Given the description of an element on the screen output the (x, y) to click on. 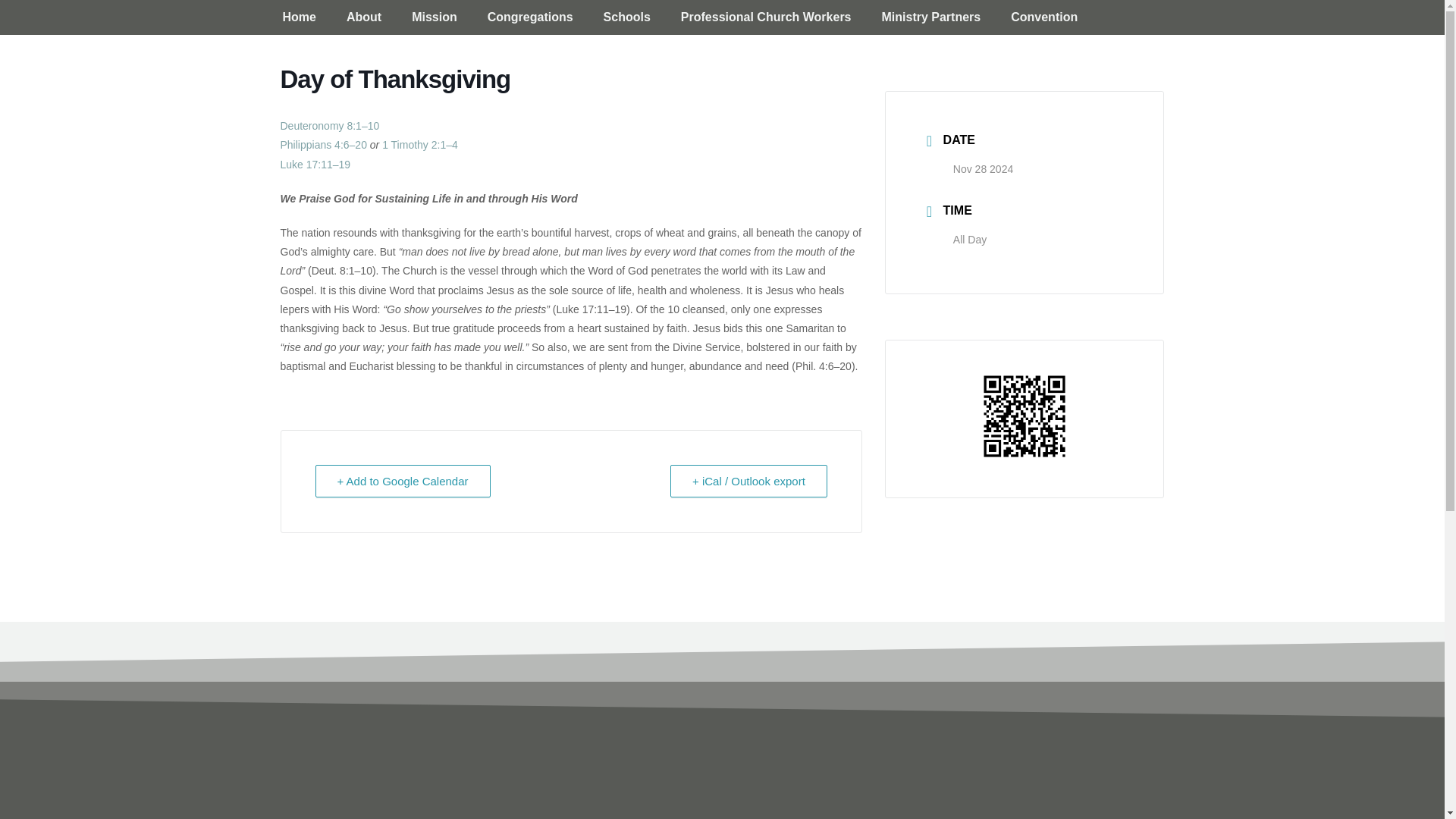
Ministry Partners (930, 17)
Home (298, 17)
Schools (626, 17)
Mission (433, 17)
About (363, 17)
Convention (1044, 17)
Professional Church Workers (765, 17)
Congregations (529, 17)
